Given the description of an element on the screen output the (x, y) to click on. 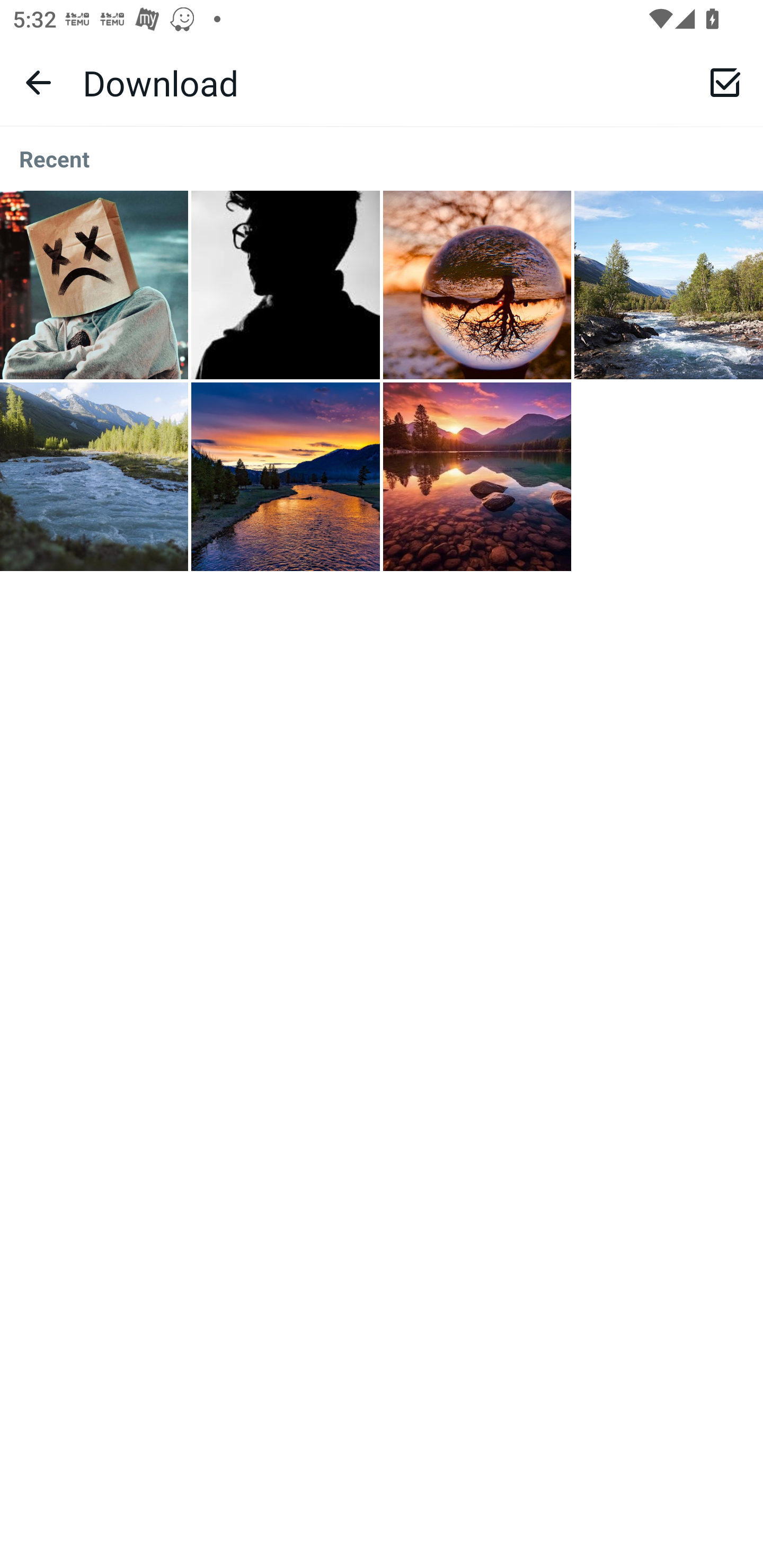
Navigate up (38, 82)
Select multiple (724, 81)
Recent (381, 159)
Photo (94, 285)
Photo (285, 285)
Photo (477, 285)
Photo (668, 285)
Photo (94, 476)
Photo (285, 476)
Photo (477, 476)
